Given the description of an element on the screen output the (x, y) to click on. 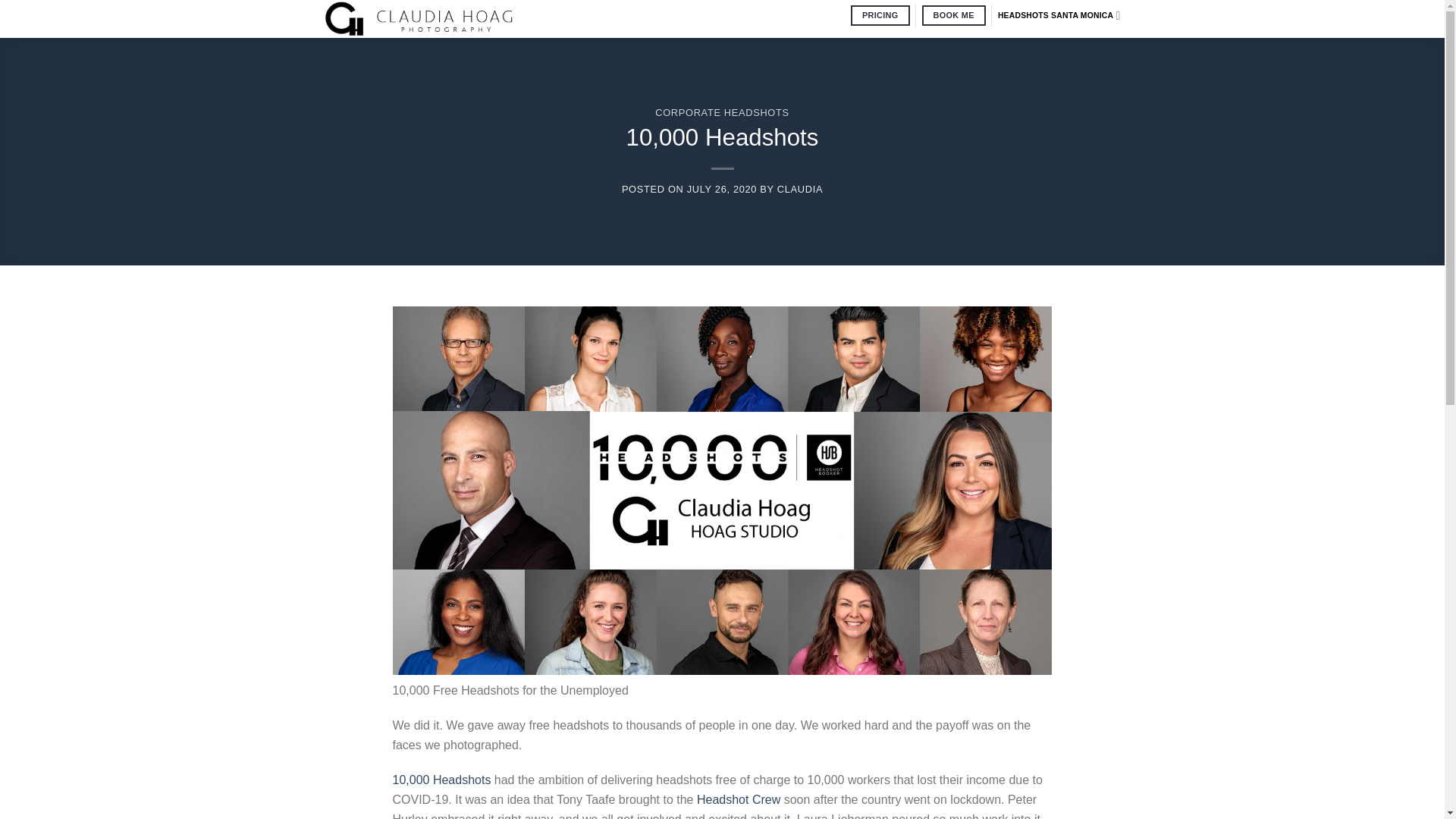
PRICING (880, 15)
JULY 26, 2020 (722, 188)
Headshot Crew (738, 799)
Hoag Studio Photography - Headshots Los Angeles (446, 18)
HEADSHOTS SANTA MONICA (1059, 15)
BOOK ME (953, 15)
CORPORATE HEADSHOTS (722, 112)
10,000 Headshots (442, 779)
CLAUDIA (799, 188)
